Given the description of an element on the screen output the (x, y) to click on. 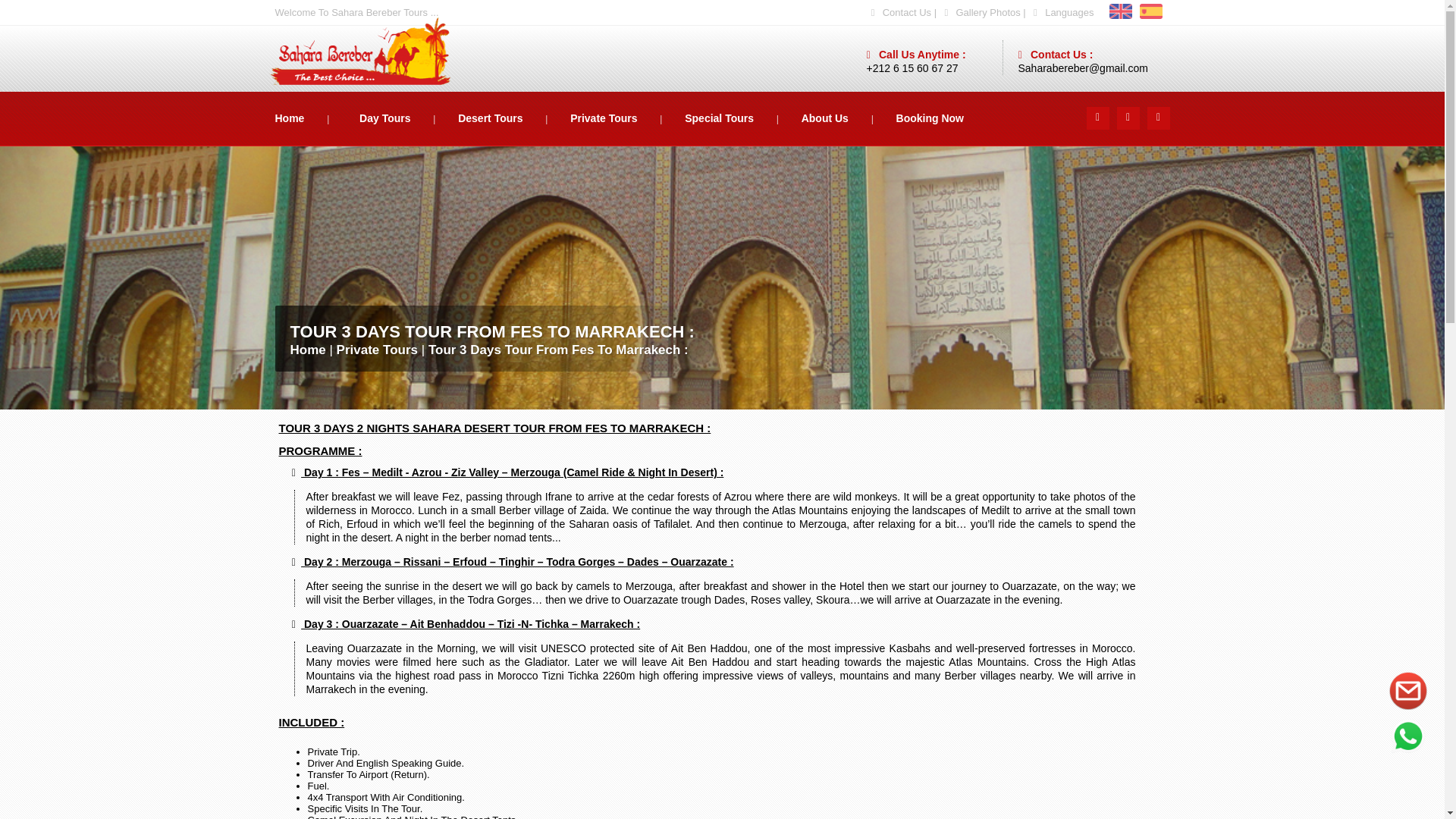
Languages (1069, 12)
Day Tours (408, 116)
Gallery Photos (987, 12)
Desert Tours (514, 117)
Home (313, 116)
Contact Us (906, 12)
Private Tours (627, 118)
